Given the description of an element on the screen output the (x, y) to click on. 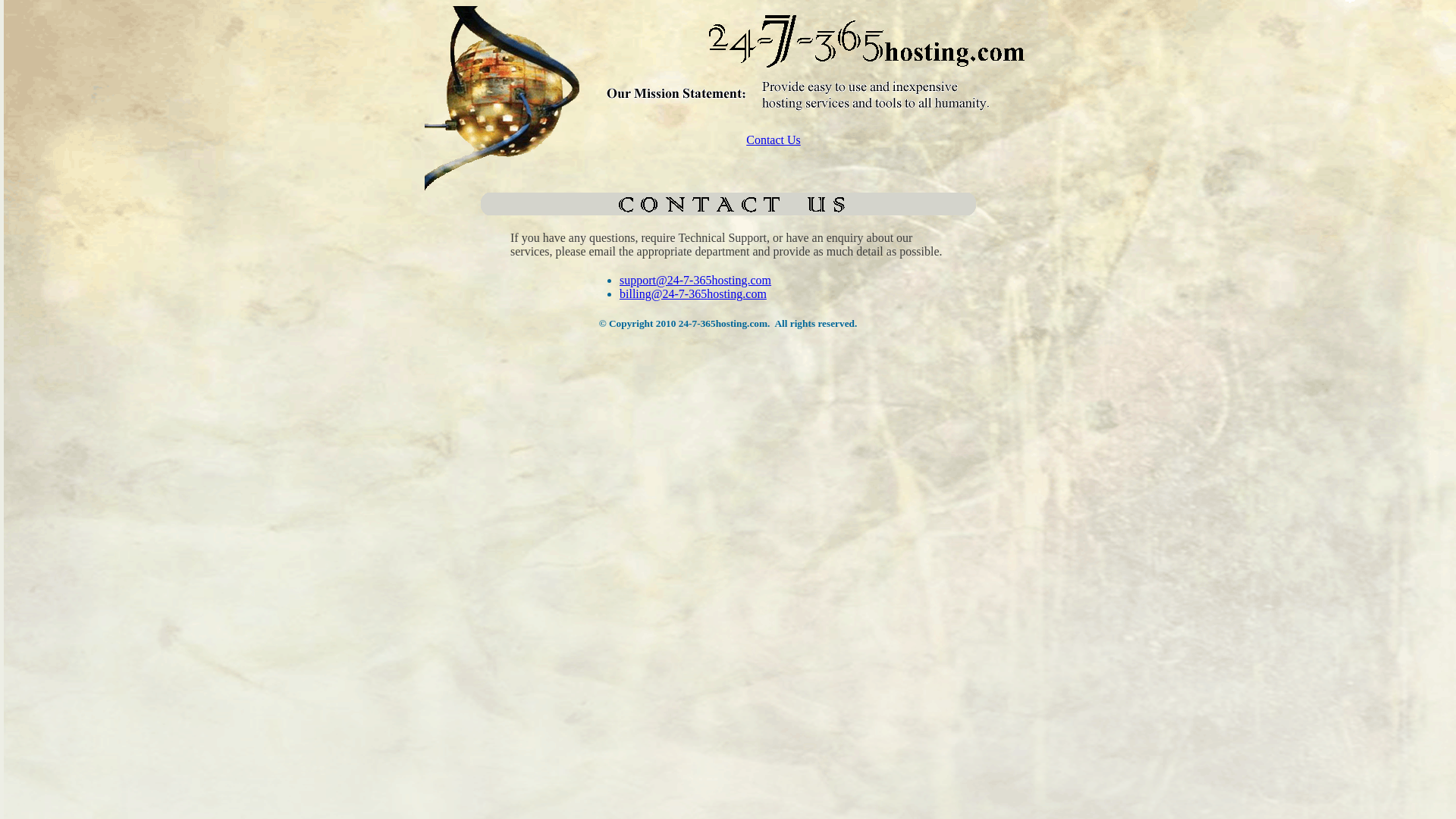
support@24-7-365hosting.com Element type: text (695, 279)
billing@24-7-365hosting.com Element type: text (692, 293)
Contact Us Element type: text (773, 139)
